Given the description of an element on the screen output the (x, y) to click on. 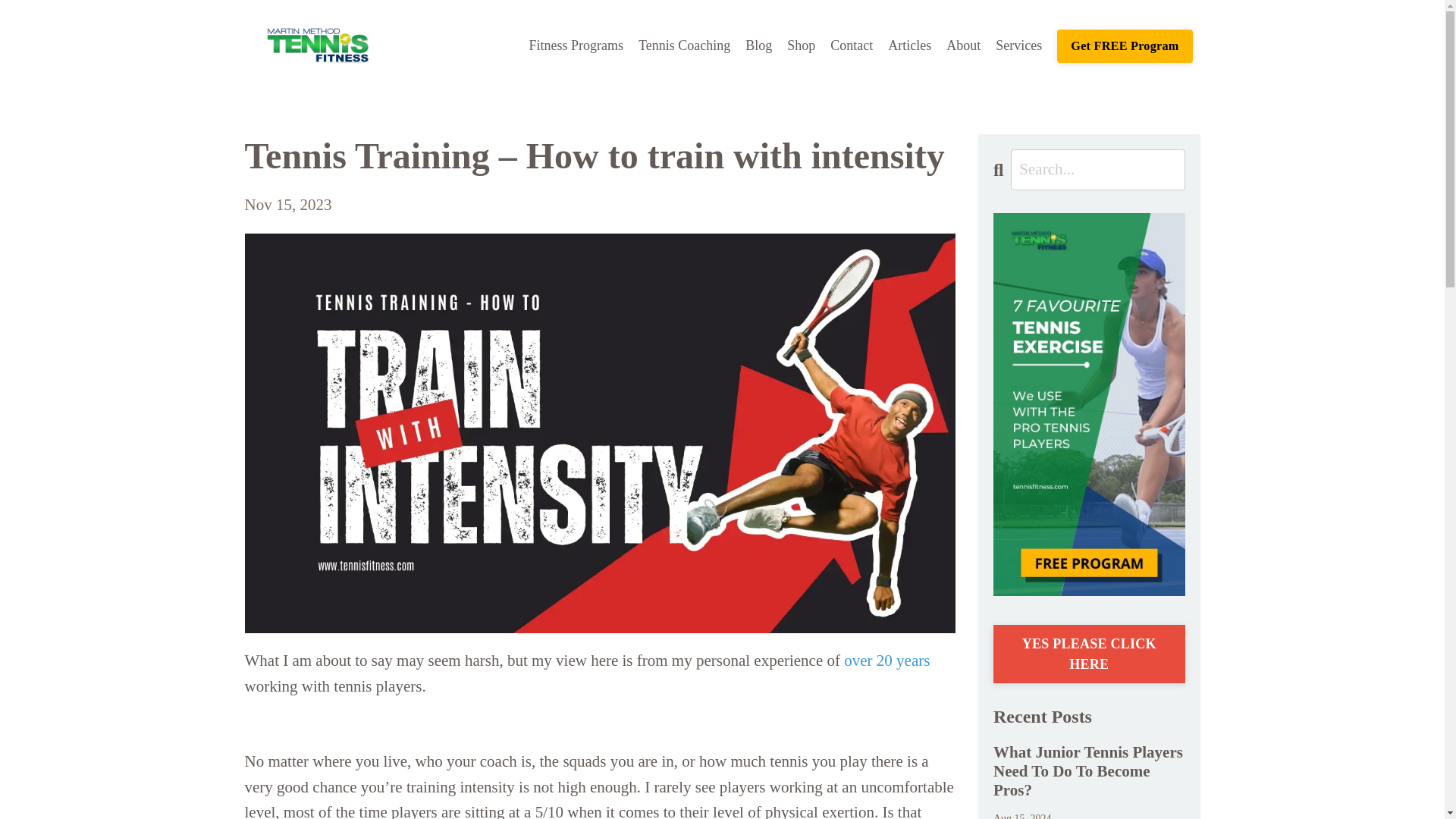
Tennis Coaching (684, 45)
YES PLEASE CLICK HERE (1088, 653)
Blog (758, 45)
Fitness Programs (576, 45)
Contact (850, 45)
Articles (909, 45)
Shop (801, 45)
Get FREE Program (1124, 46)
over 20 years (887, 660)
What Junior Tennis Players Need To Do To Become Pros? (1088, 771)
